Given the description of an element on the screen output the (x, y) to click on. 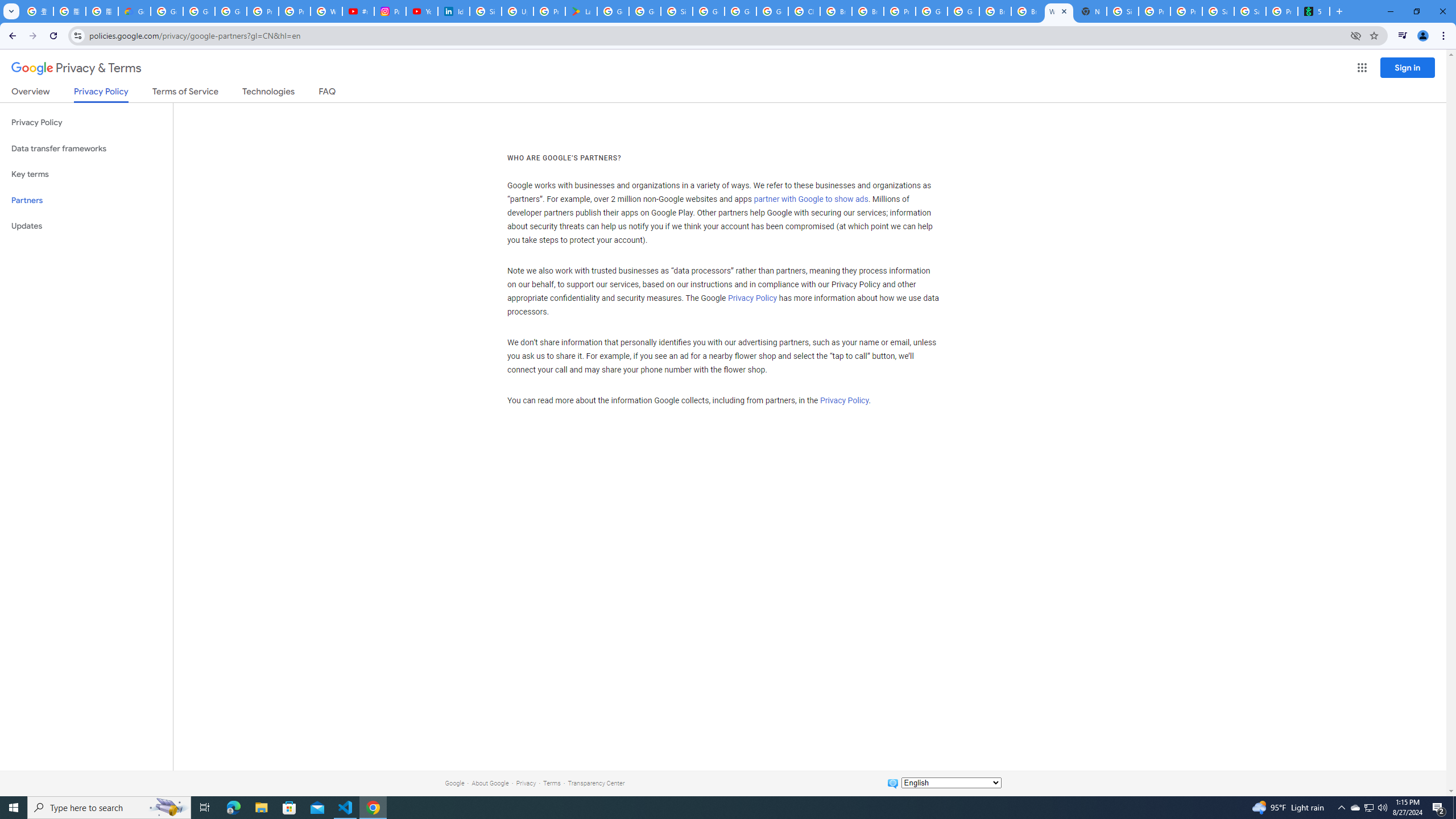
Google (454, 783)
Google Workspace - Specific Terms (644, 11)
Sign in - Google Accounts (485, 11)
About Google (490, 783)
Change language: (951, 782)
